Given the description of an element on the screen output the (x, y) to click on. 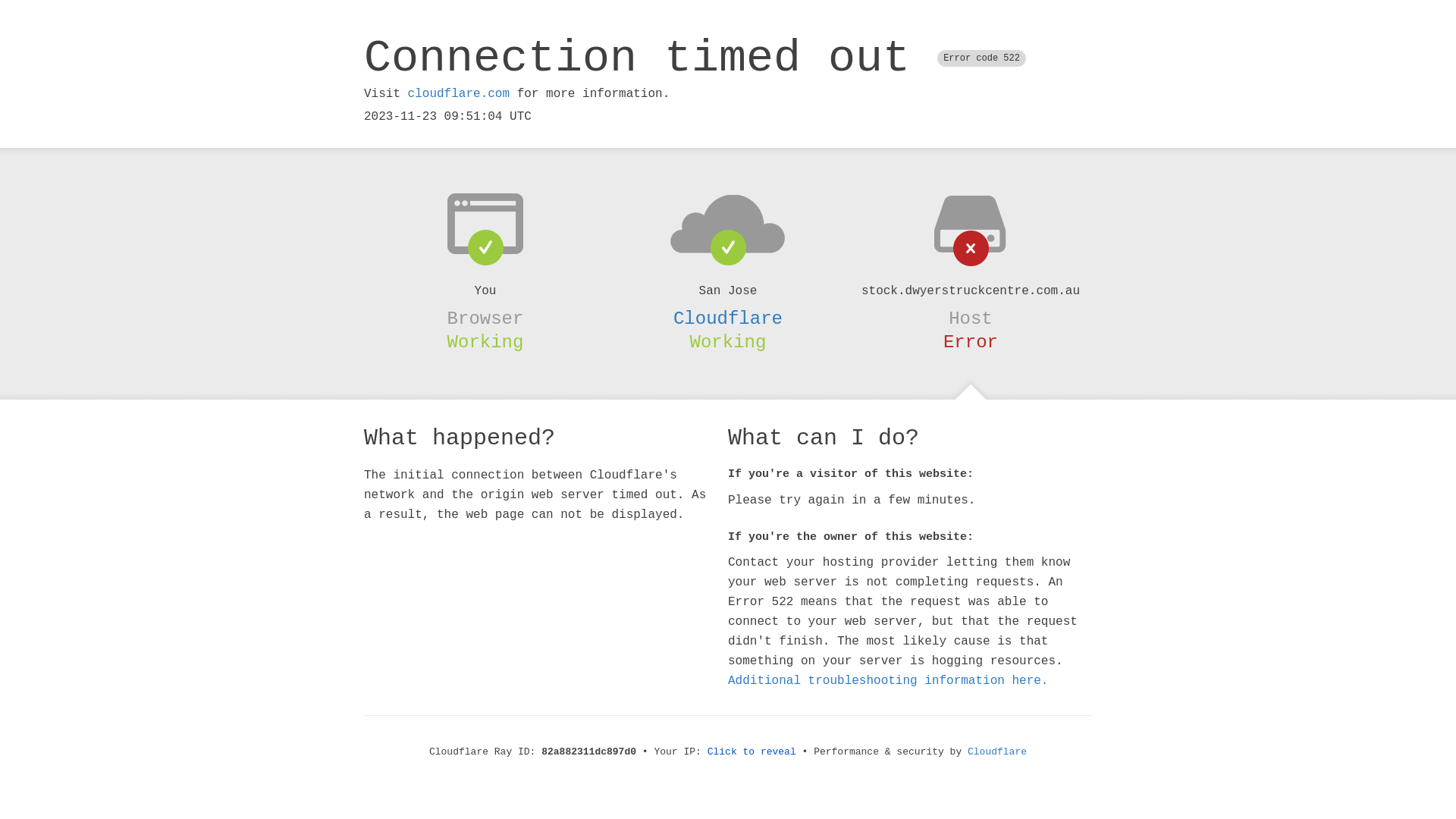
cloudflare.com Element type: text (458, 93)
Cloudflare Element type: text (996, 751)
Additional troubleshooting information here. Element type: text (888, 680)
Click to reveal Element type: text (751, 751)
Cloudflare Element type: text (727, 318)
